Given the description of an element on the screen output the (x, y) to click on. 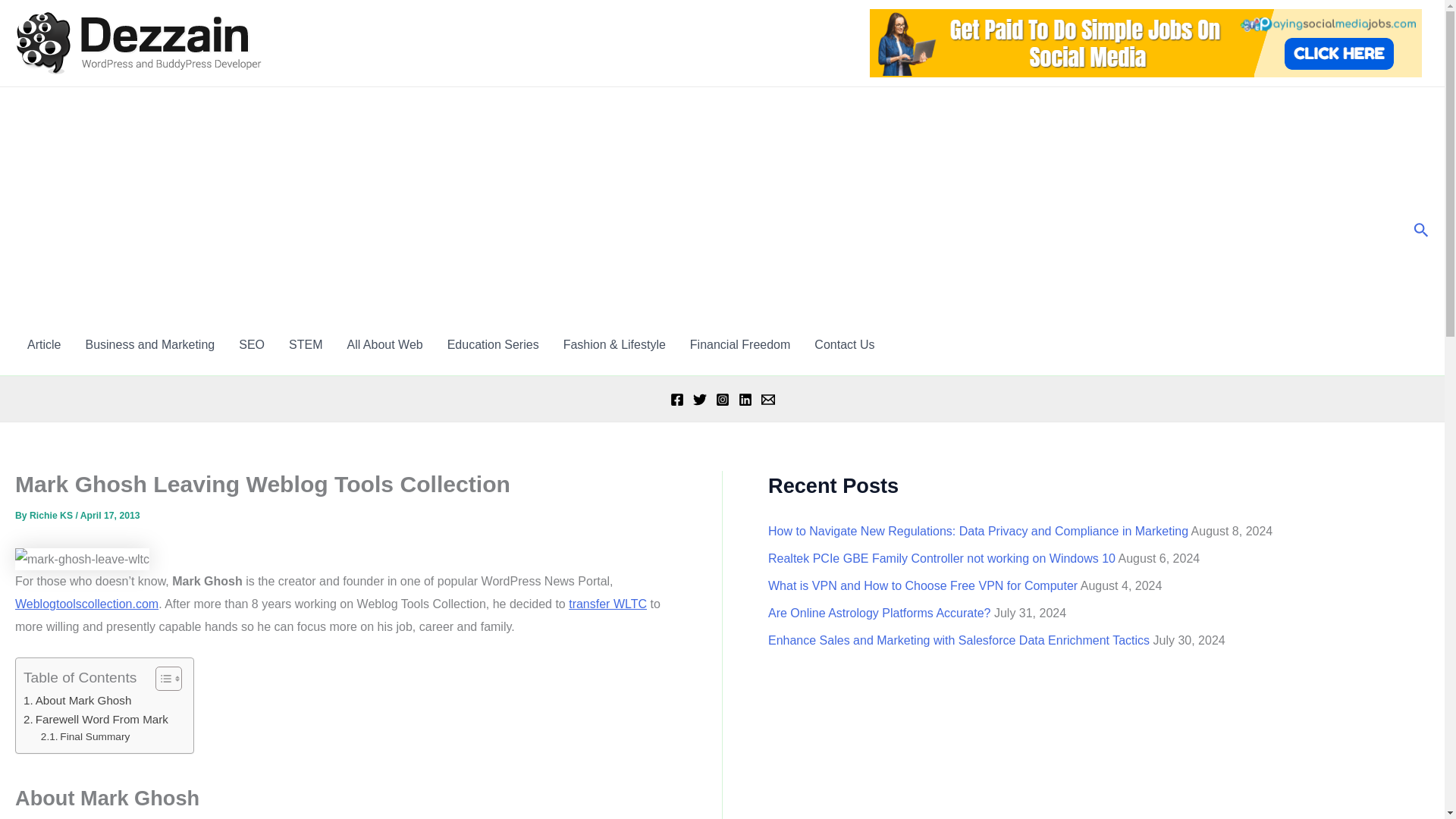
Farewell Word From Mark (95, 719)
wordpress themes, plugin and news (86, 603)
Weblogtoolscollection.com (86, 603)
About Mark Ghosh (77, 700)
Article (43, 344)
Business and Marketing (149, 344)
Financial Freedom (740, 344)
Farewell Word From Mark (95, 719)
STEM (305, 344)
View all posts by Richie KS (52, 515)
